Given the description of an element on the screen output the (x, y) to click on. 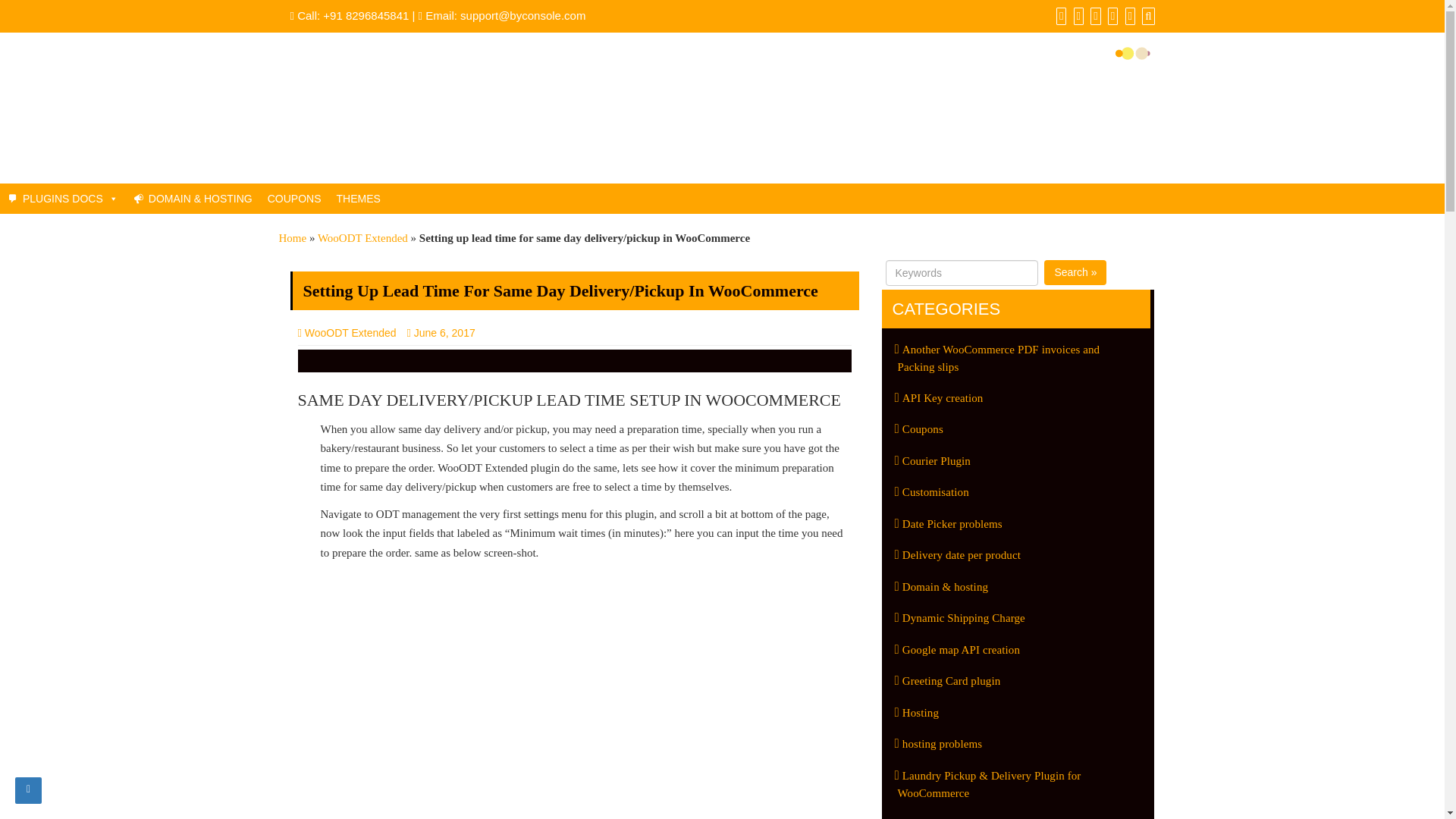
THEMES (358, 198)
Facebook (1058, 15)
WooODT Extended (346, 331)
PLUGINS DOCS (62, 198)
June 6, 2017 (445, 331)
Google Plus (1093, 15)
Linkedin (1110, 15)
WhatsApp (1127, 15)
Home (293, 237)
